Given the description of an element on the screen output the (x, y) to click on. 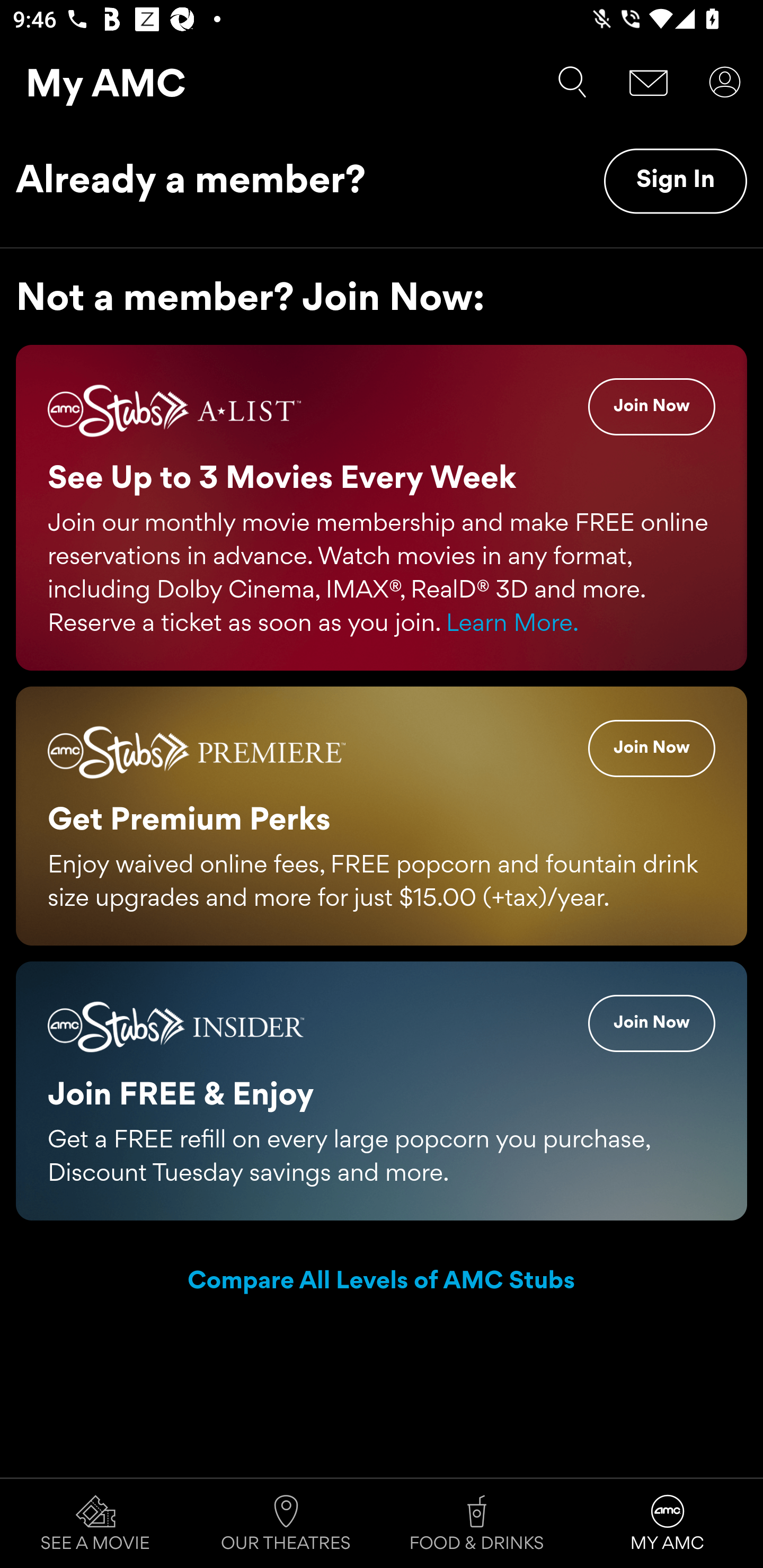
Search (572, 82)
Message Center (648, 82)
User Account (724, 82)
Sign In (675, 180)
A-List Join Now (651, 406)
Premiere Join Now (651, 748)
Insider Join Now (651, 1022)
Compare All Levels of AMC Stubs (381, 1282)
SEE A MOVIE
Tab 1 of 4 (95, 1523)
OUR THEATRES
Tab 2 of 4 (285, 1523)
FOOD & DRINKS
Tab 3 of 4 (476, 1523)
MY AMC
Tab 4 of 4 (667, 1523)
